Given the description of an element on the screen output the (x, y) to click on. 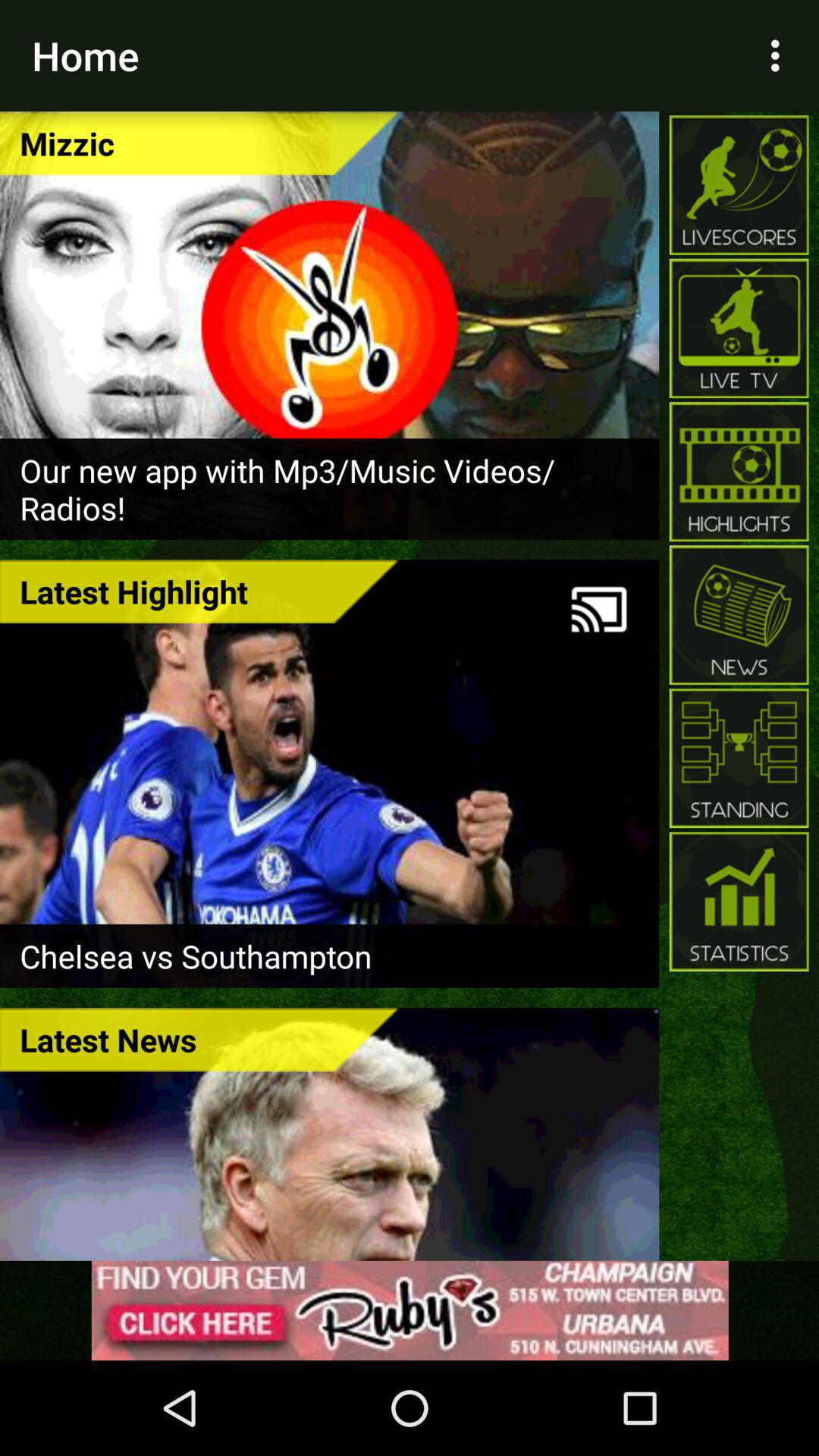
flip to latest highlight (199, 591)
